Given the description of an element on the screen output the (x, y) to click on. 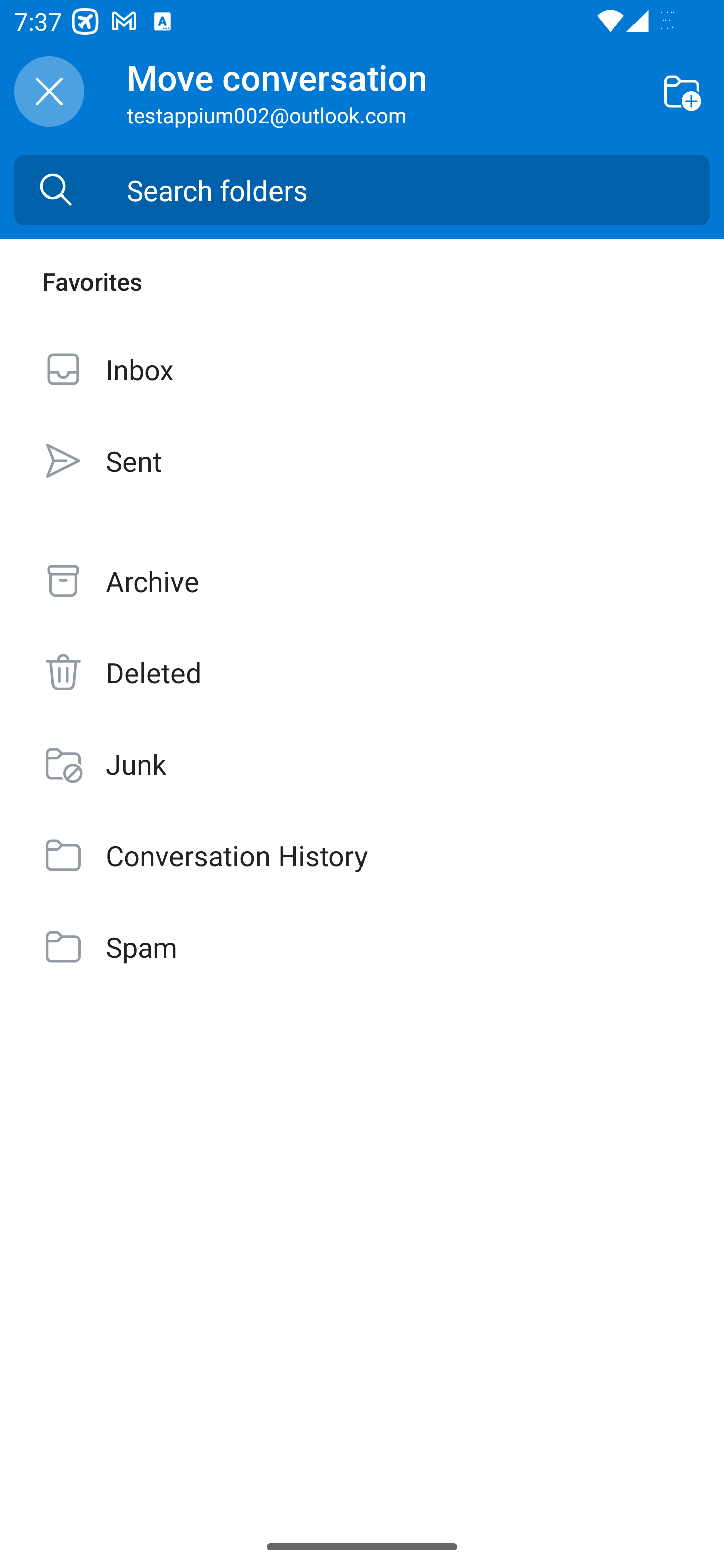
Move conversation, Cancel (49, 91)
Create new folder (681, 90)
Search folders (418, 190)
Inbox (362, 369)
Sent (362, 460)
Archive (362, 580)
Deleted (362, 672)
Junk (362, 763)
Conversation History (362, 855)
Spam (362, 946)
